Given the description of an element on the screen output the (x, y) to click on. 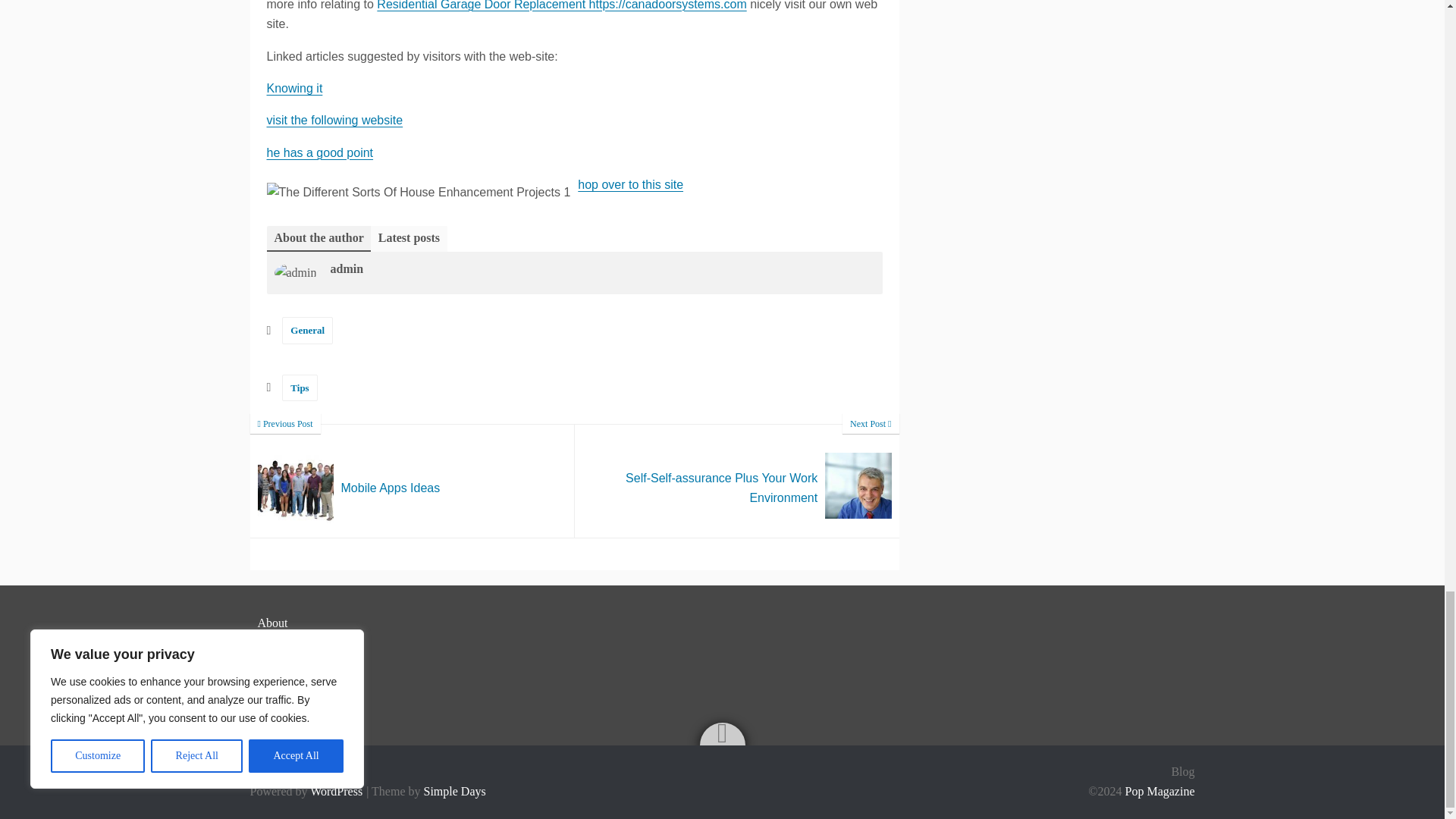
Knowing it (294, 88)
Self-Self-assurance Plus Your Work Environment (737, 480)
General (307, 329)
Tips (737, 480)
he has a good point (299, 387)
visit the following website (320, 152)
Mobile Apps Ideas (412, 480)
hop over to this site (334, 119)
